Given the description of an element on the screen output the (x, y) to click on. 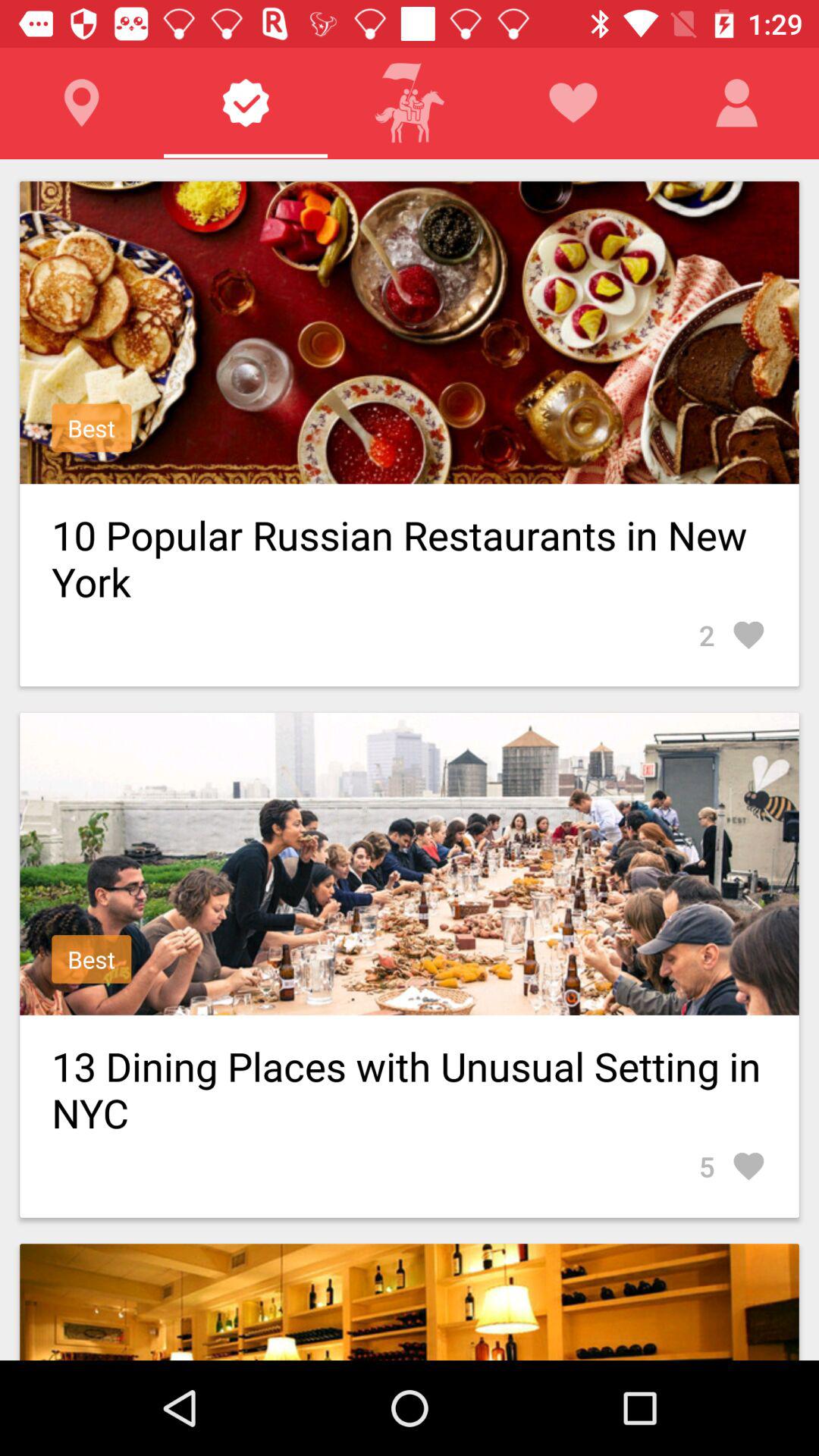
select the item below the 13 dining places (732, 1166)
